Given the description of an element on the screen output the (x, y) to click on. 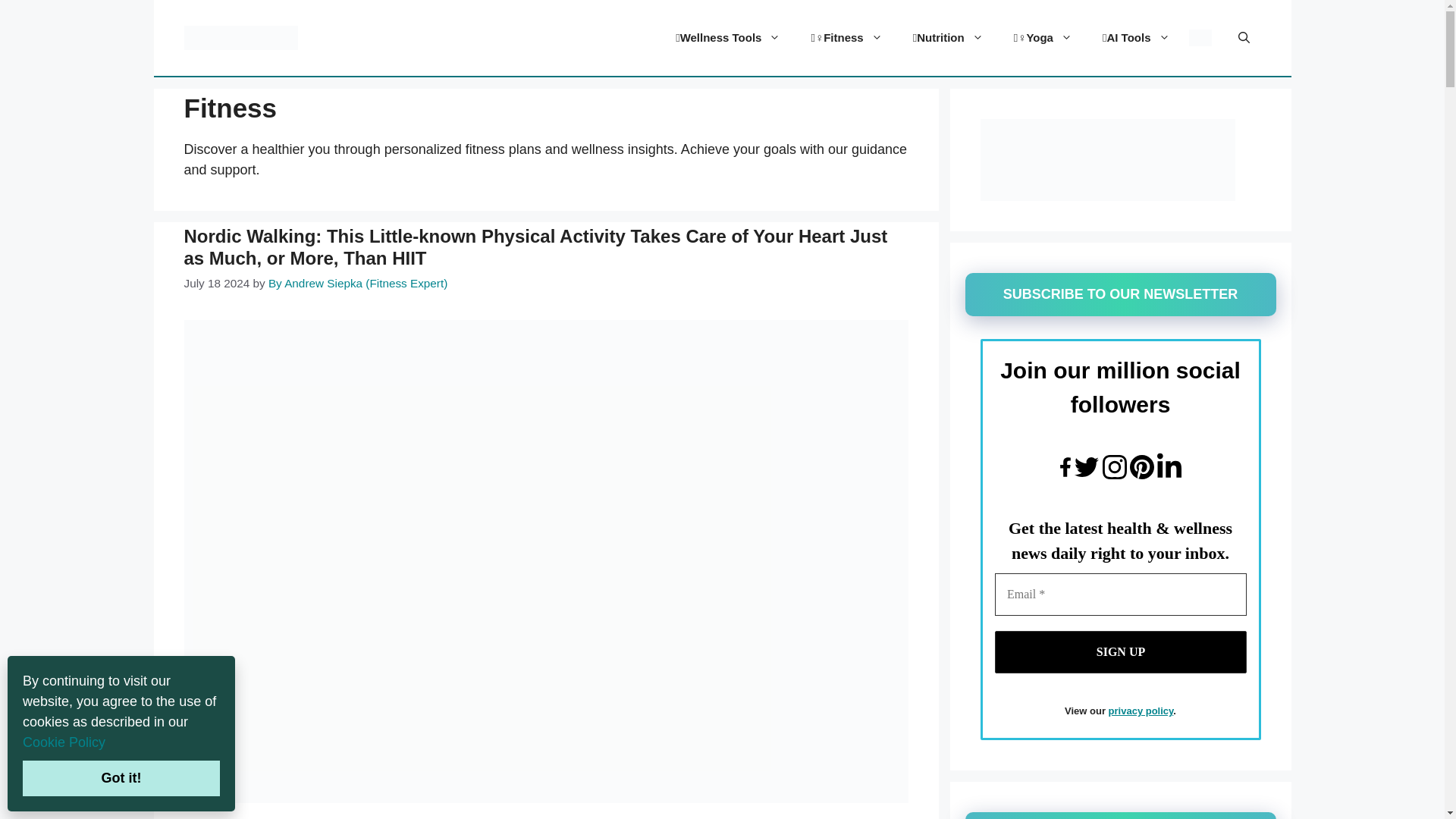
SIGN UP (1120, 651)
